Given the description of an element on the screen output the (x, y) to click on. 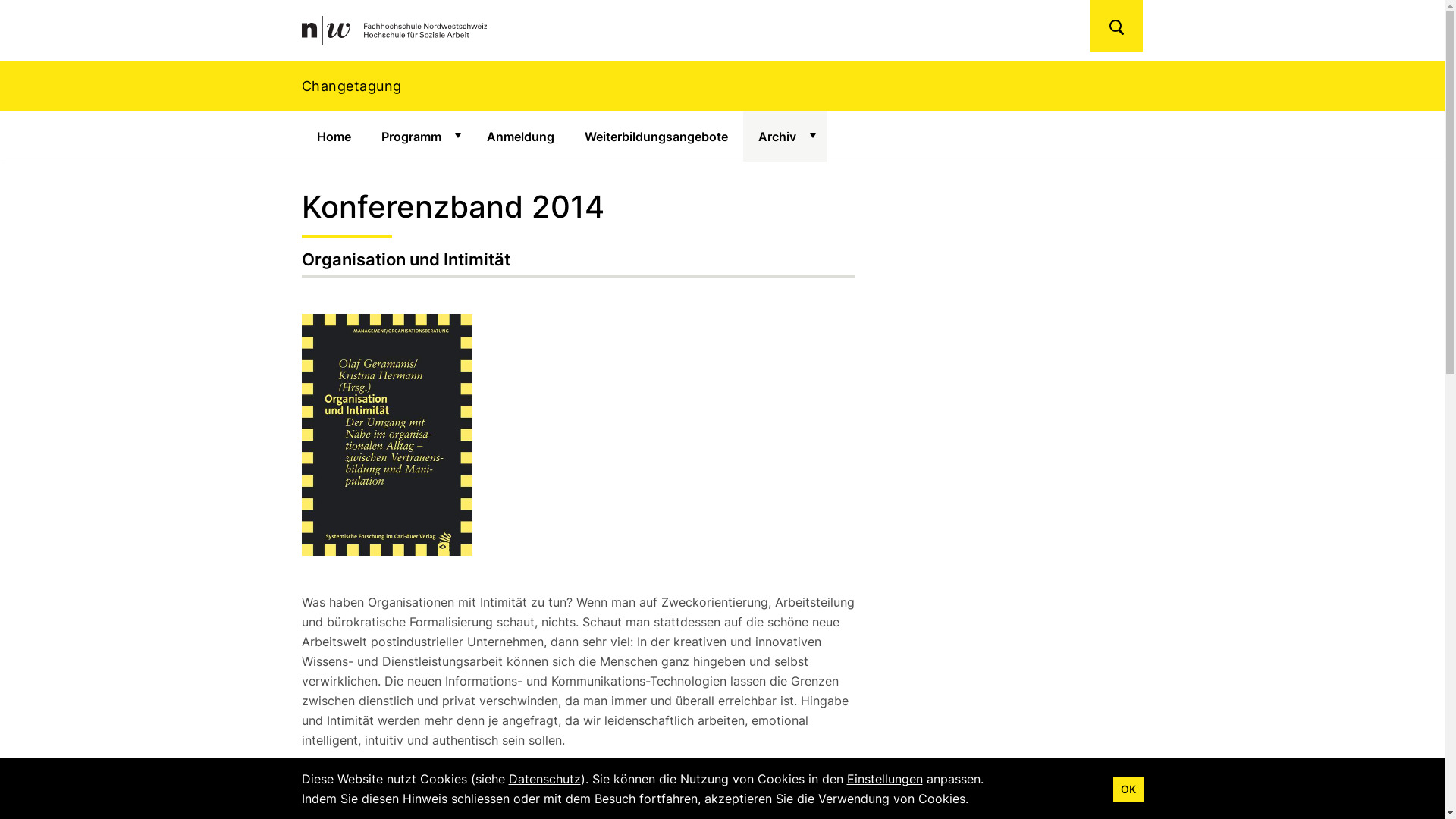
Suchen Element type: text (1116, 25)
OK Element type: text (1128, 788)
Changetagung Element type: text (722, 86)
Einstellungen Element type: text (884, 778)
Datenschutz Element type: text (544, 778)
Home Element type: text (333, 136)
Anmeldung Element type: text (520, 136)
Weiterbildungsangebote Element type: text (655, 136)
